Given the description of an element on the screen output the (x, y) to click on. 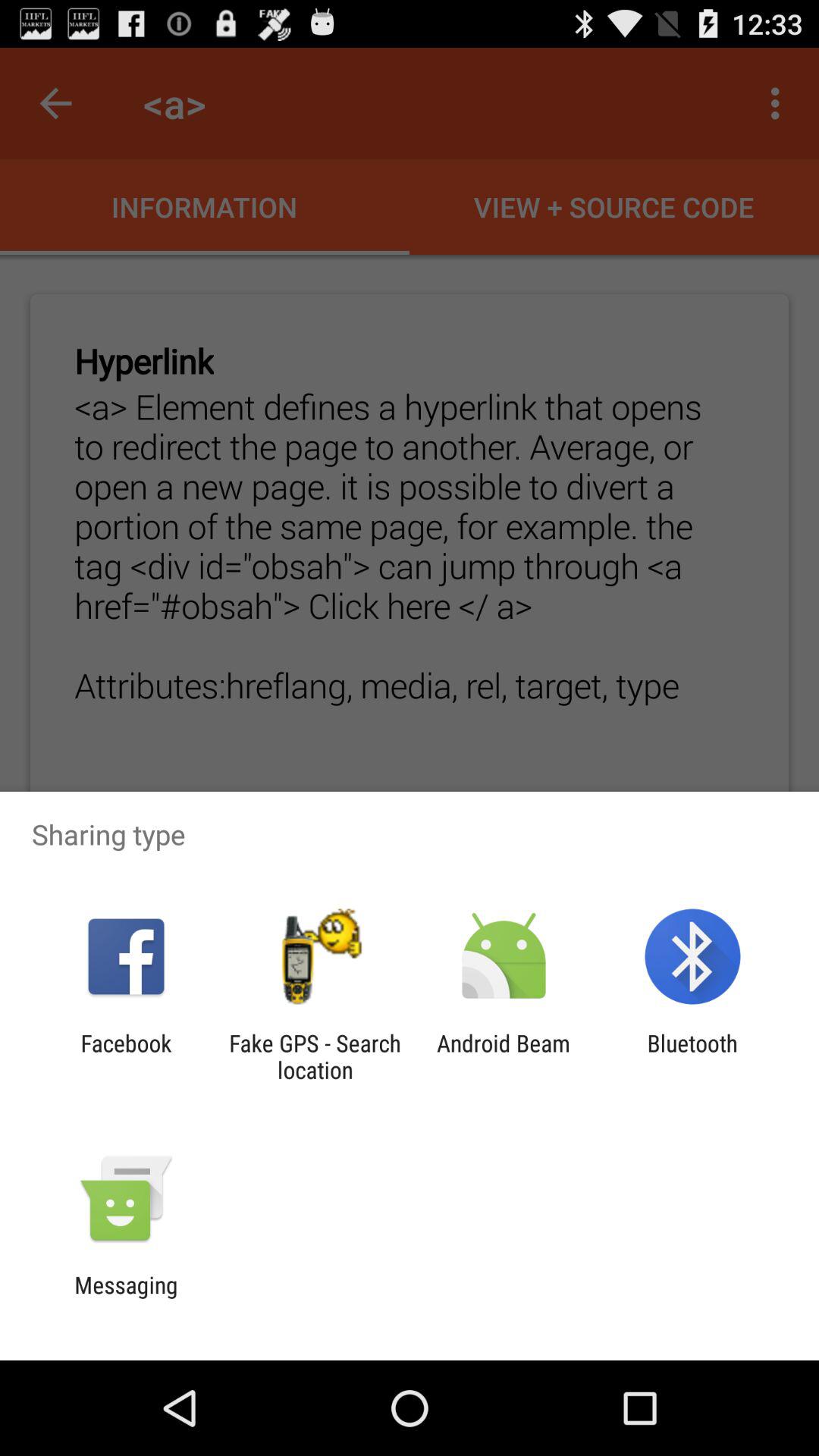
click the bluetooth app (692, 1056)
